Given the description of an element on the screen output the (x, y) to click on. 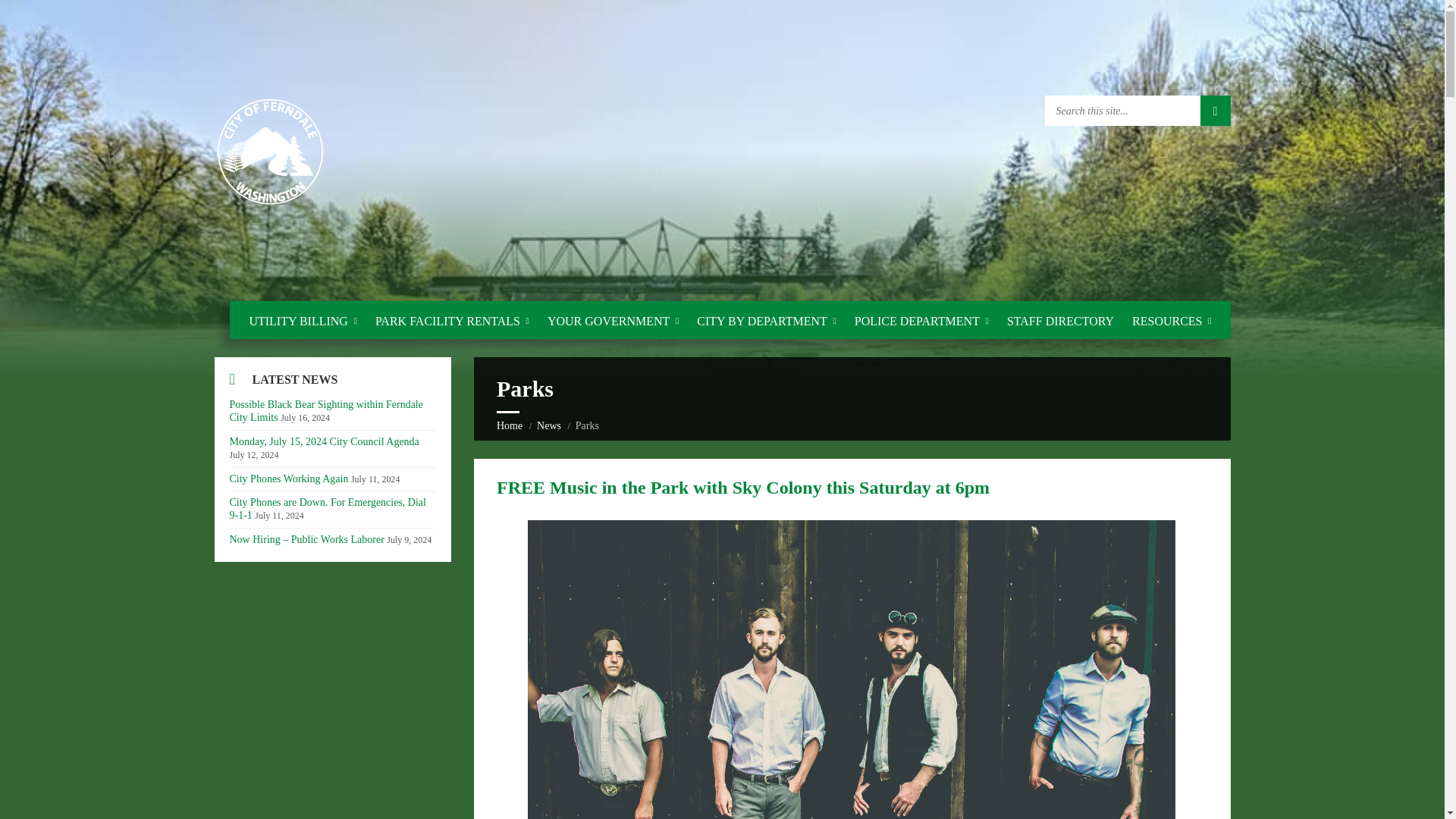
UTILITY BILLING (302, 321)
CITY BY DEPARTMENT (766, 321)
PARK FACILITY RENTALS (452, 321)
YOUR GOVERNMENT (612, 321)
